Given the description of an element on the screen output the (x, y) to click on. 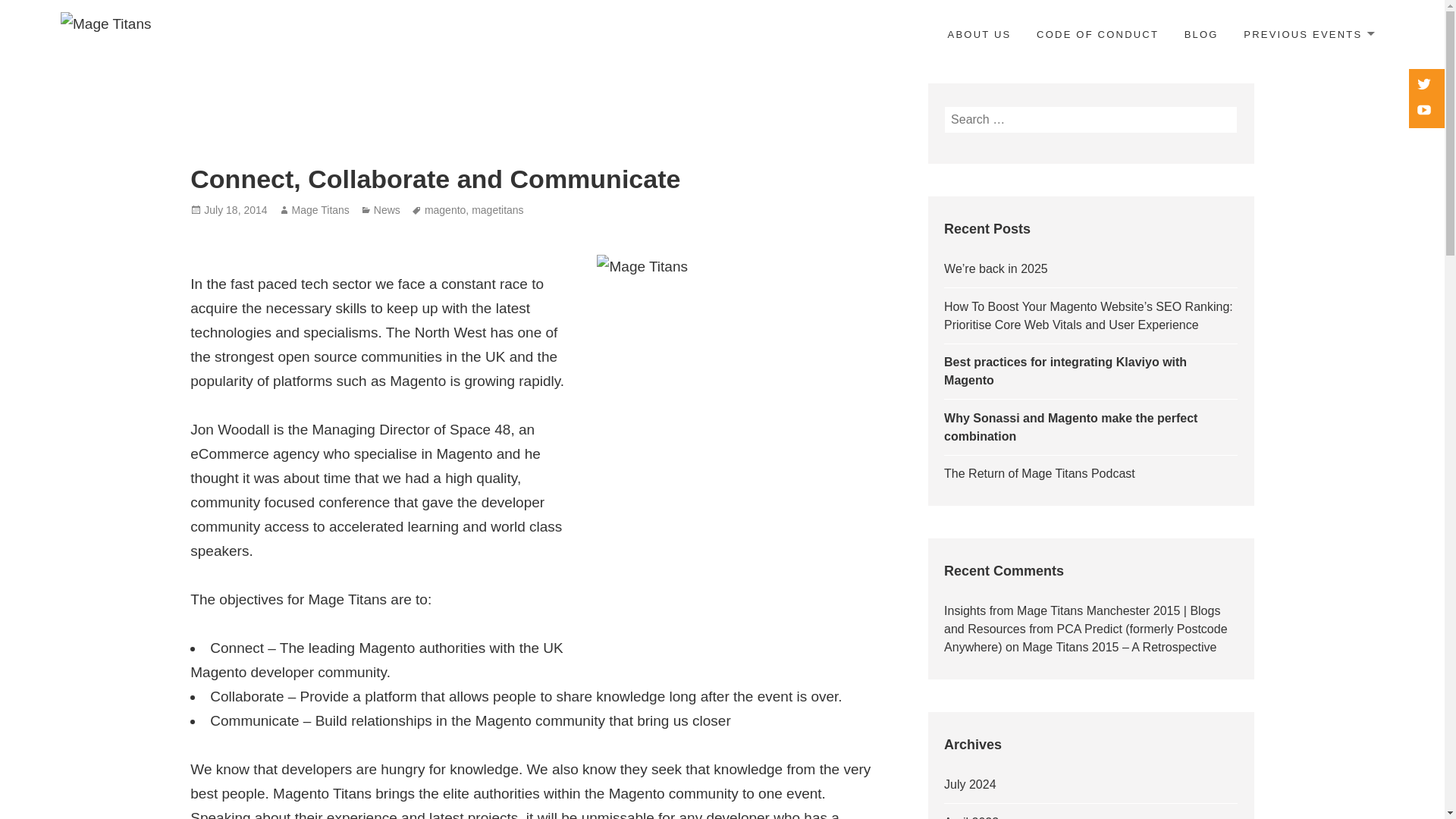
Mage Titans (320, 210)
July 2024 (969, 784)
BLOG (1201, 34)
CODE OF CONDUCT (1097, 34)
magetitans (496, 210)
Why Sonassi and Magento make the perfect combination (1069, 427)
The Return of Mage Titans Podcast (1039, 472)
PREVIOUS EVENTS (1307, 35)
